Given the description of an element on the screen output the (x, y) to click on. 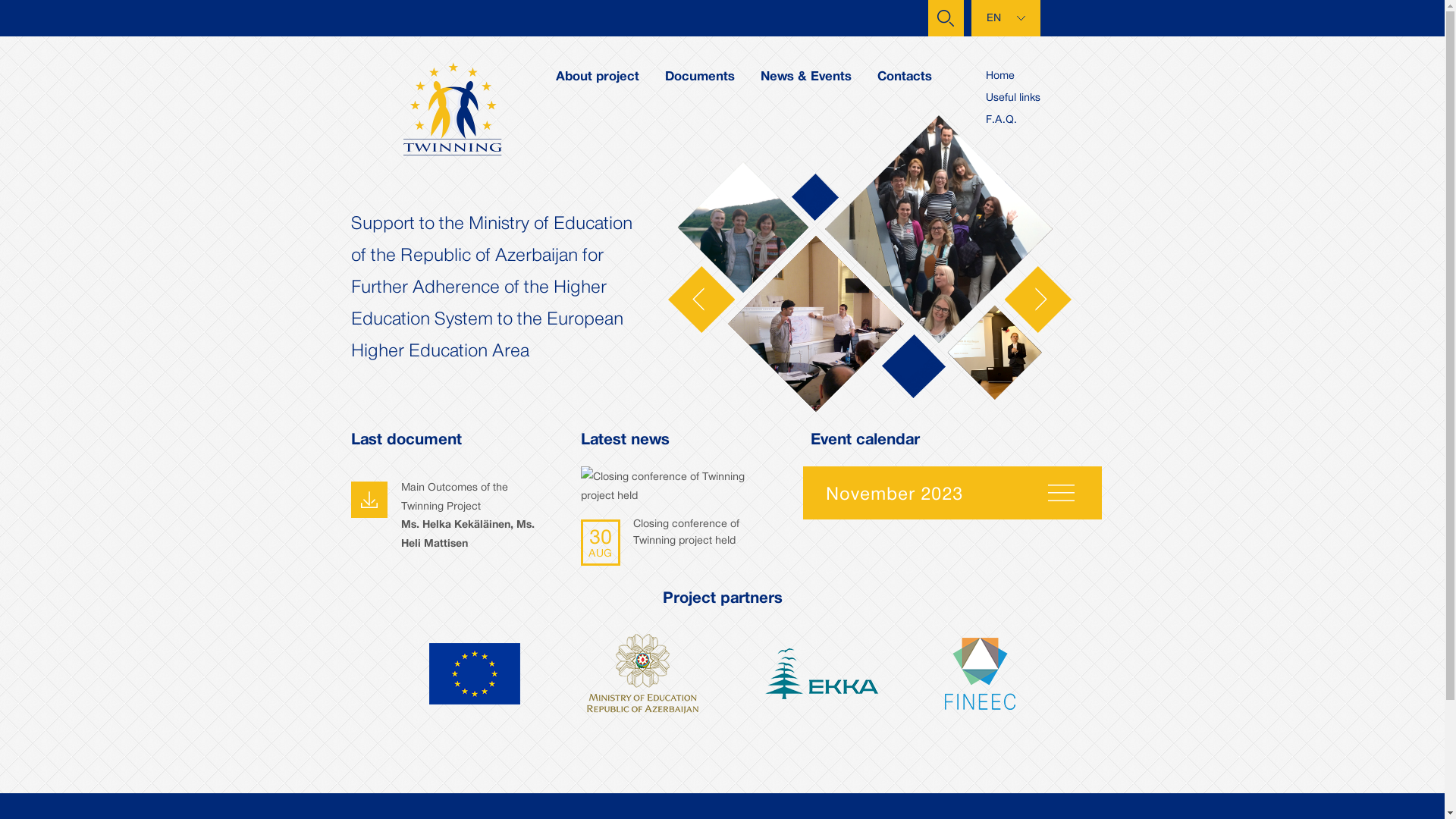
News & Events Element type: text (805, 76)
F.A.Q. Element type: text (1000, 118)
Contacts Element type: text (904, 76)
Home Element type: text (999, 74)
About project Element type: text (597, 76)
Previous Element type: text (700, 298)
Documents Element type: text (699, 76)
Useful links Element type: text (1012, 96)
Next Element type: text (1037, 298)
